Given the description of an element on the screen output the (x, y) to click on. 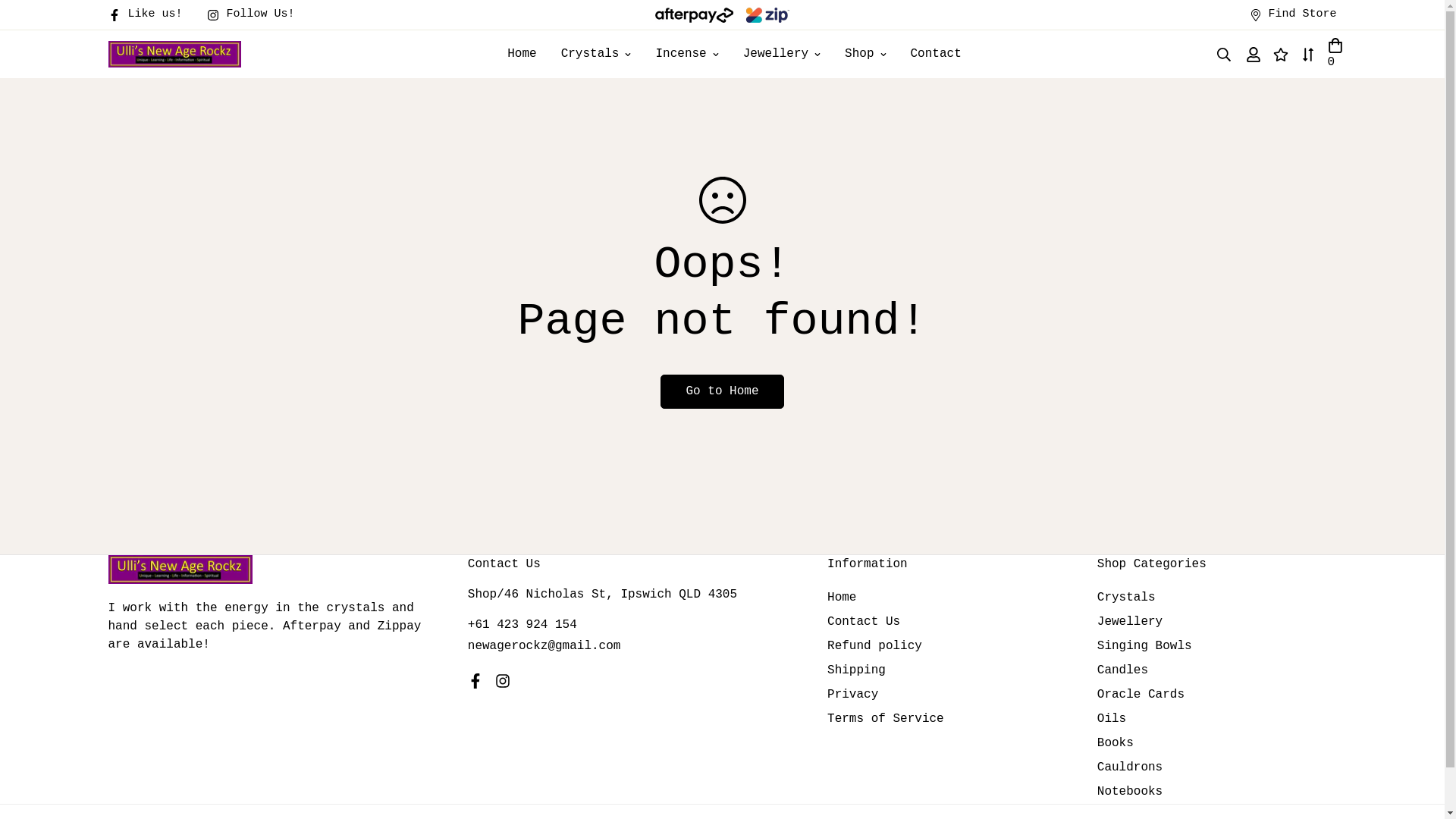
Contact Element type: text (935, 54)
Contact Us Element type: text (863, 621)
Jewellery Element type: text (781, 54)
Home Element type: text (841, 597)
0 Element type: text (1334, 54)
Home Element type: text (521, 54)
Shop/46 Nicholas St, Ipswich QLD 4305 Element type: text (602, 594)
Jewellery Element type: text (1129, 621)
Cauldrons Element type: text (1129, 767)
Singing Bowls Element type: text (1144, 646)
Crystals Element type: text (1126, 597)
Shop Element type: text (864, 54)
Books Element type: text (1115, 743)
Find Store Element type: text (1292, 14)
Privacy Element type: text (852, 694)
Like us! Element type: text (150, 14)
Shipping Element type: text (856, 670)
Oracle Cards Element type: text (1140, 694)
newagerockz@gmail.com Element type: text (544, 645)
Terms of Service Element type: text (885, 718)
Oils Element type: text (1111, 718)
Follow Us! Element type: text (256, 14)
Notebooks Element type: text (1129, 791)
Refund policy Element type: text (874, 646)
Candles Element type: text (1122, 670)
Go to Home Element type: text (721, 391)
+61 423 924 154 Element type: text (522, 624)
Incense Element type: text (686, 54)
Crystals Element type: text (596, 54)
